Given the description of an element on the screen output the (x, y) to click on. 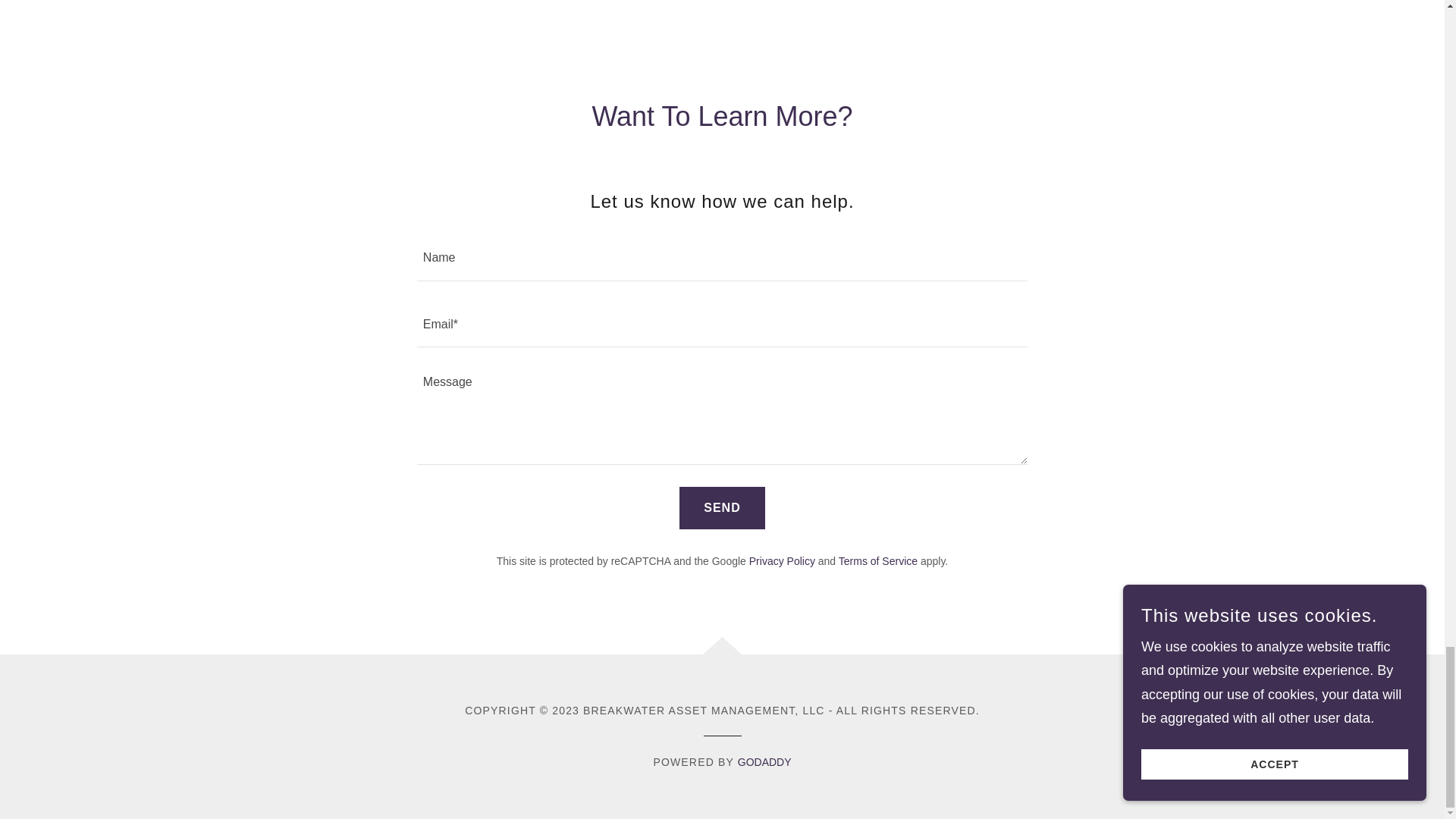
Privacy Policy (782, 561)
SEND (721, 507)
Terms of Service (877, 561)
GODADDY (765, 761)
